Given the description of an element on the screen output the (x, y) to click on. 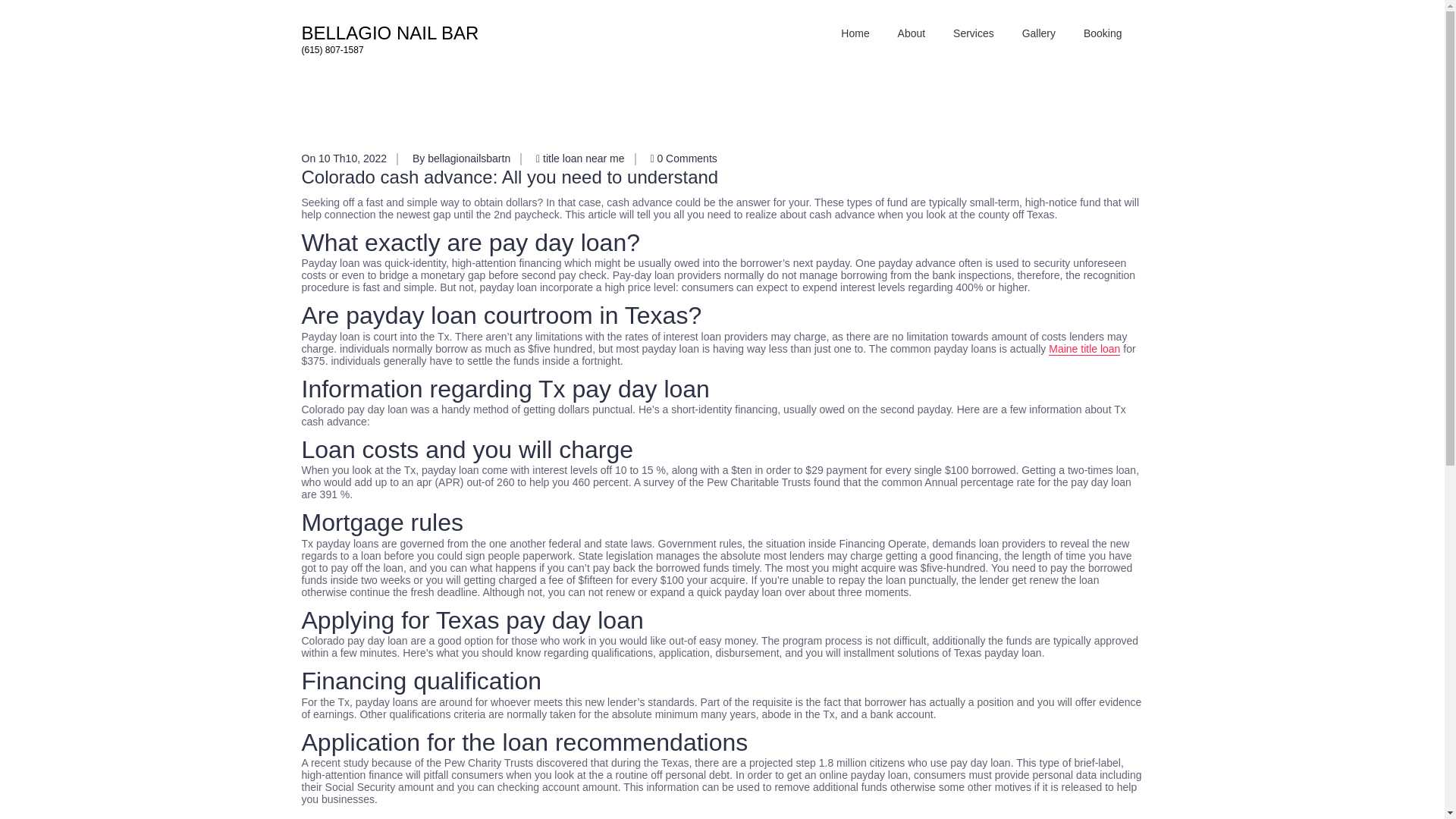
title loan near me (583, 158)
Gallery (1038, 33)
Home (854, 33)
BELLAGIO NAIL BAR (390, 33)
By bellagionailsbartn (461, 158)
0 Comments (682, 158)
About (911, 33)
Booking (1102, 33)
Booking (1102, 33)
Gallery (1038, 33)
Home (854, 33)
On 10 Th10, 2022 (344, 158)
About (911, 33)
Maine title loan (1083, 349)
Services (973, 33)
